Given the description of an element on the screen output the (x, y) to click on. 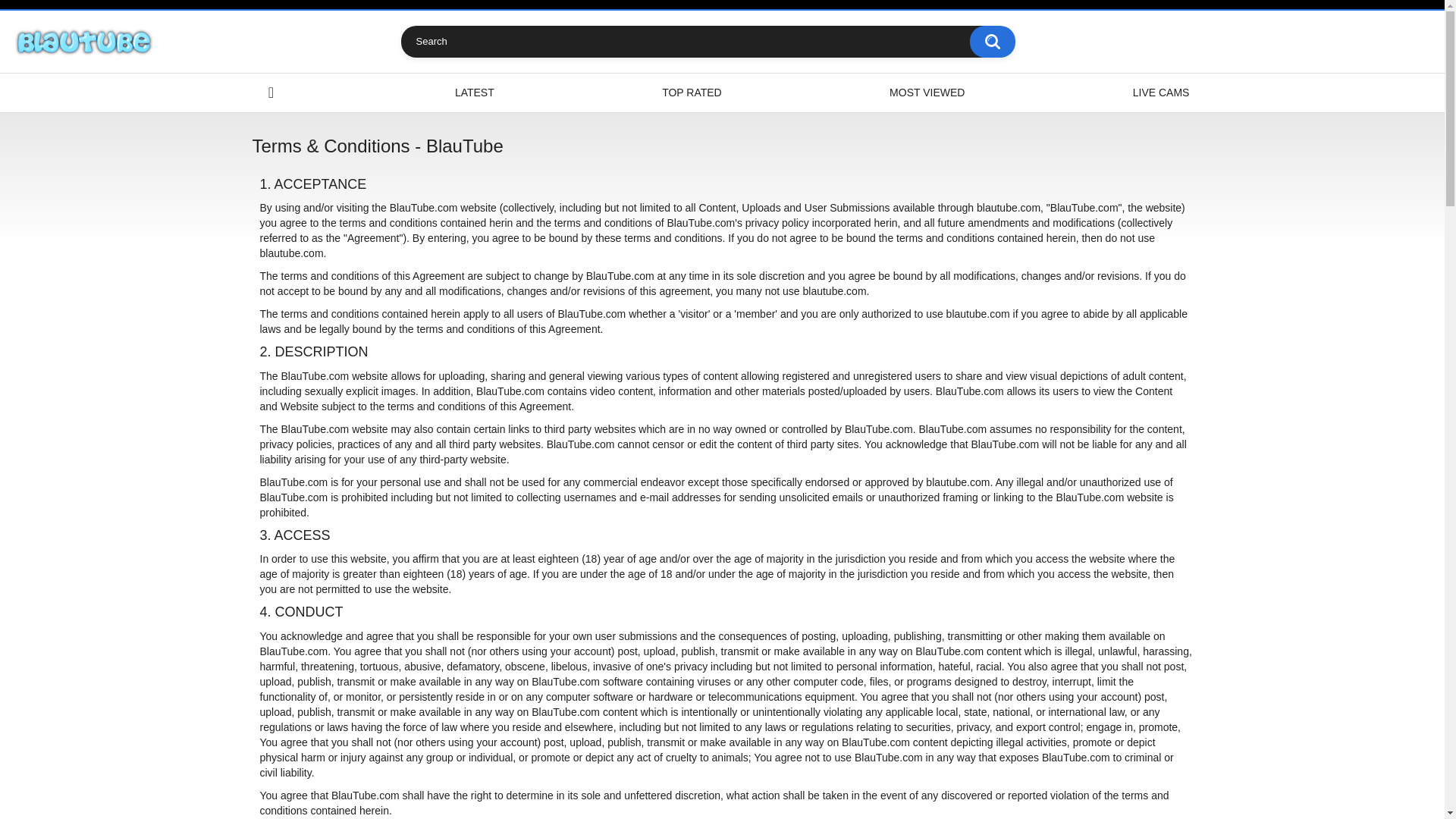
LATEST (474, 92)
MOST VIEWED (927, 92)
HOME (270, 92)
TOP RATED (692, 92)
LIVE CAMS (1160, 92)
